Given the description of an element on the screen output the (x, y) to click on. 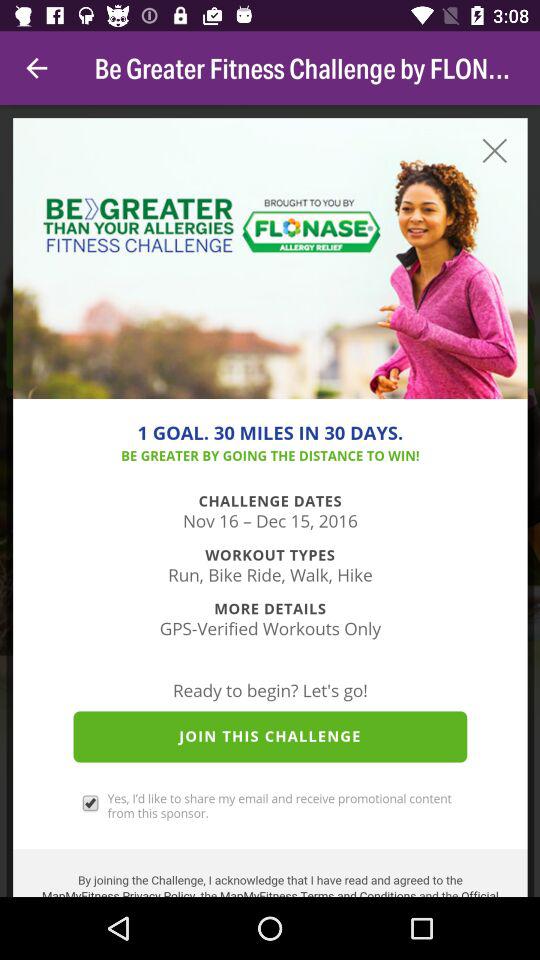
open a page (270, 501)
